Given the description of an element on the screen output the (x, y) to click on. 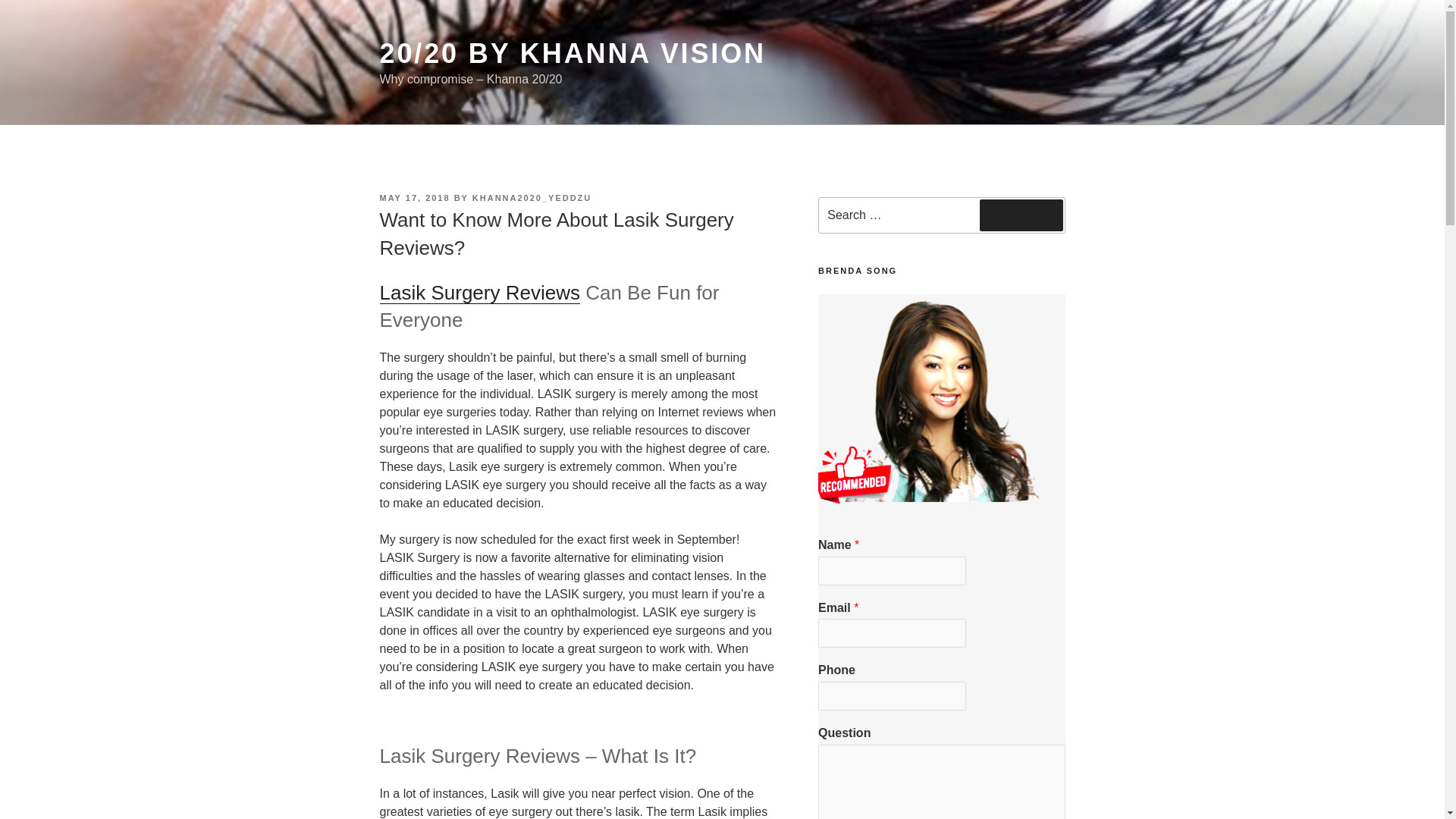
MAY 17, 2018 (413, 197)
Lasik Surgery Reviews (478, 292)
Search (1020, 214)
